Given the description of an element on the screen output the (x, y) to click on. 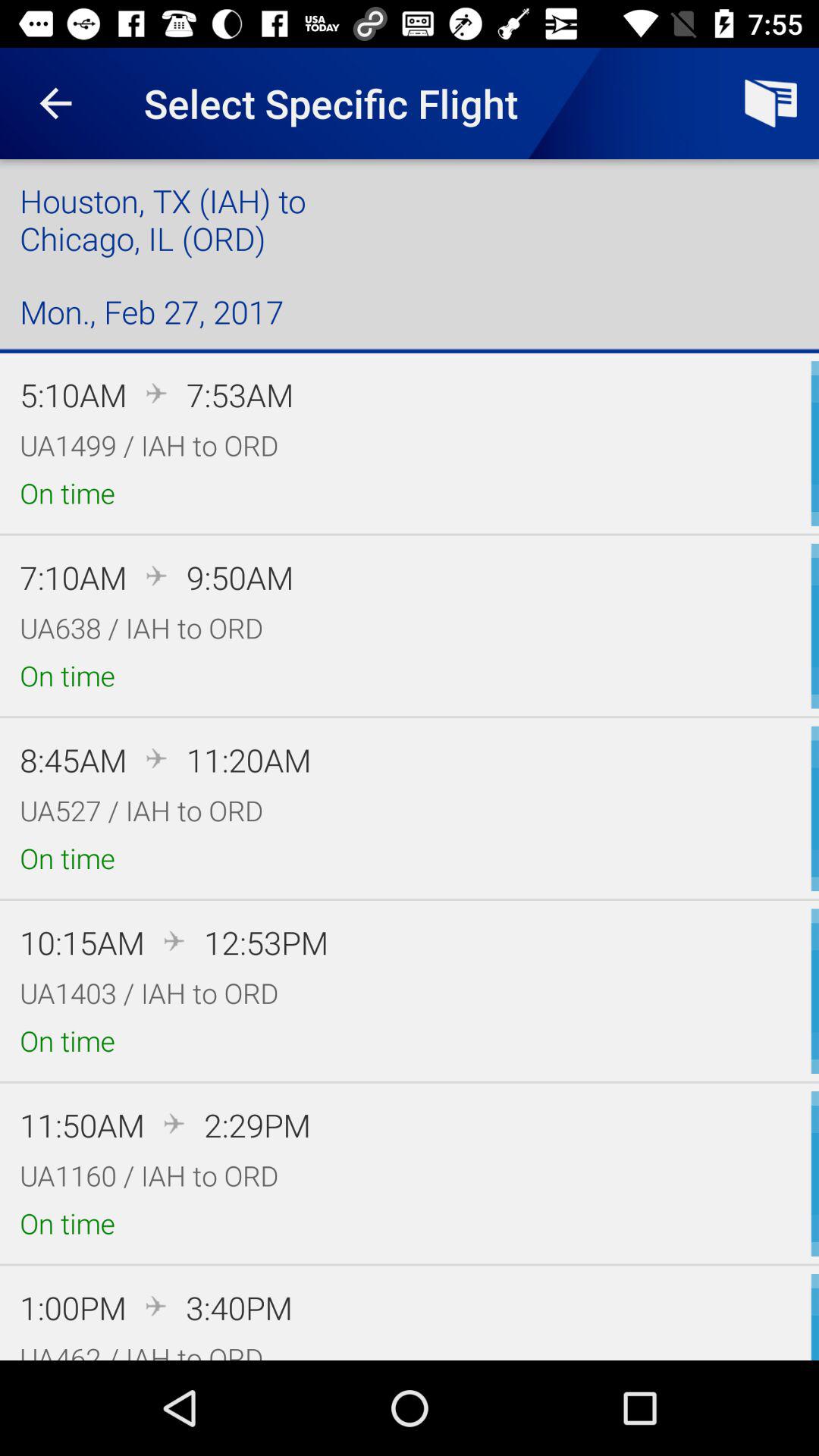
scroll until the 10:15am (81, 942)
